Given the description of an element on the screen output the (x, y) to click on. 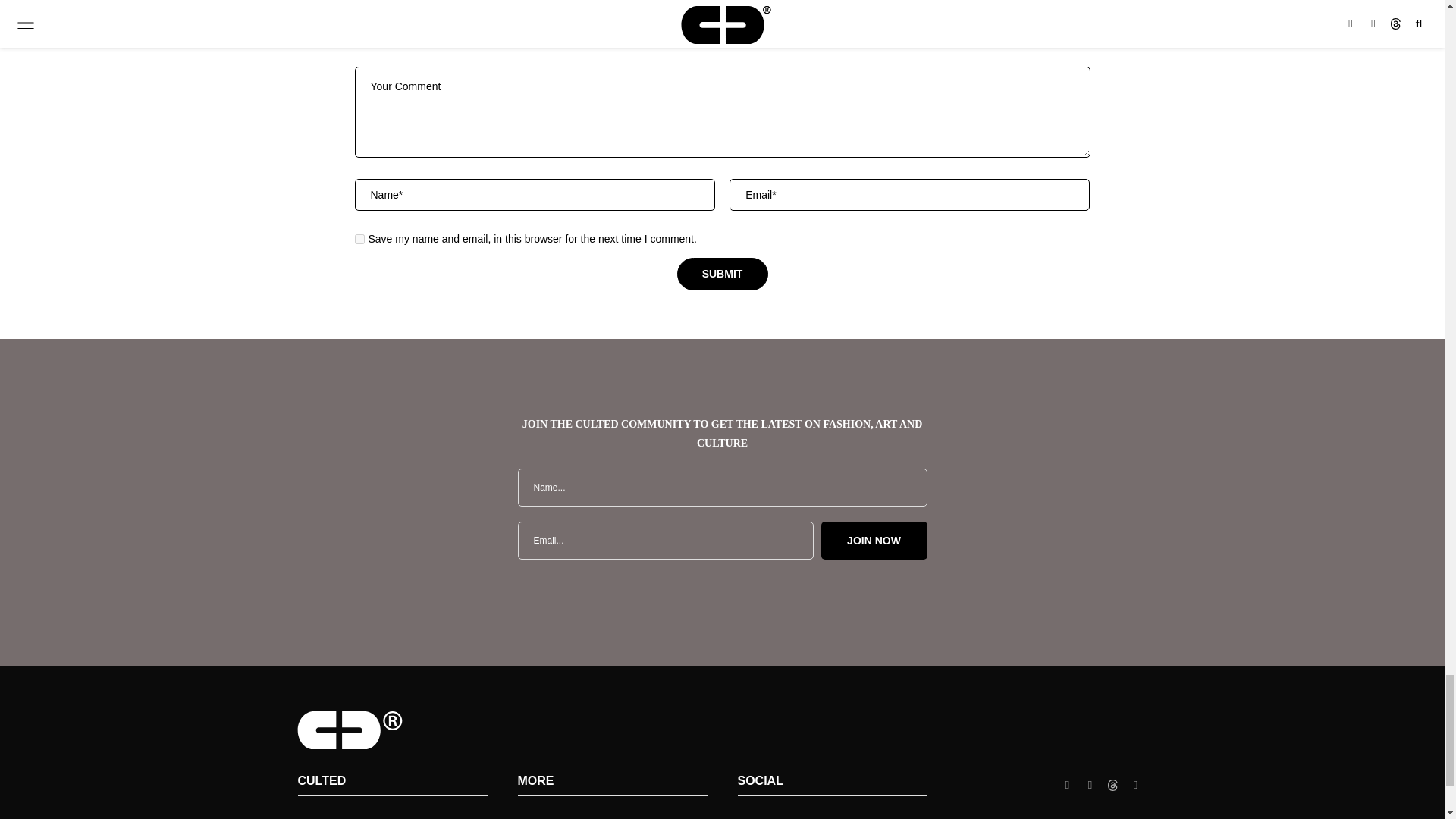
Submit (722, 273)
JOIN NOW (873, 540)
yes (360, 239)
